Given the description of an element on the screen output the (x, y) to click on. 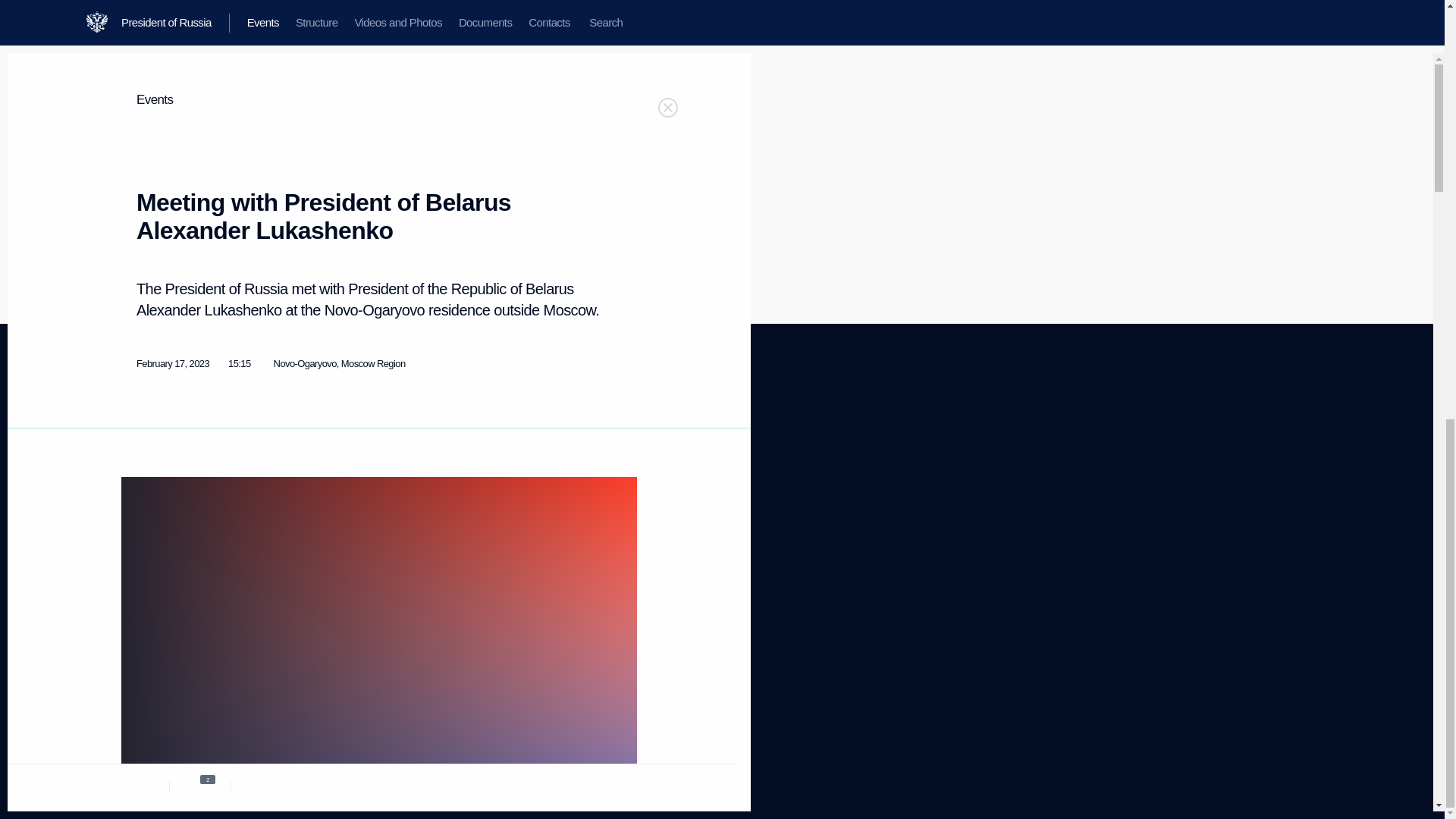
Videos and Photos (158, 478)
Contacts (138, 516)
Using website content (317, 447)
Contact website team (574, 460)
Send a Letter (573, 510)
Structure (284, 510)
Documents (138, 460)
Creative Commons Attribution 4.0 International (143, 497)
Search (582, 764)
Version for People with Disabilities (134, 535)
The Constitution of Russia (165, 668)
For the Media (309, 472)
Subscribe (148, 571)
About website (140, 606)
